Given the description of an element on the screen output the (x, y) to click on. 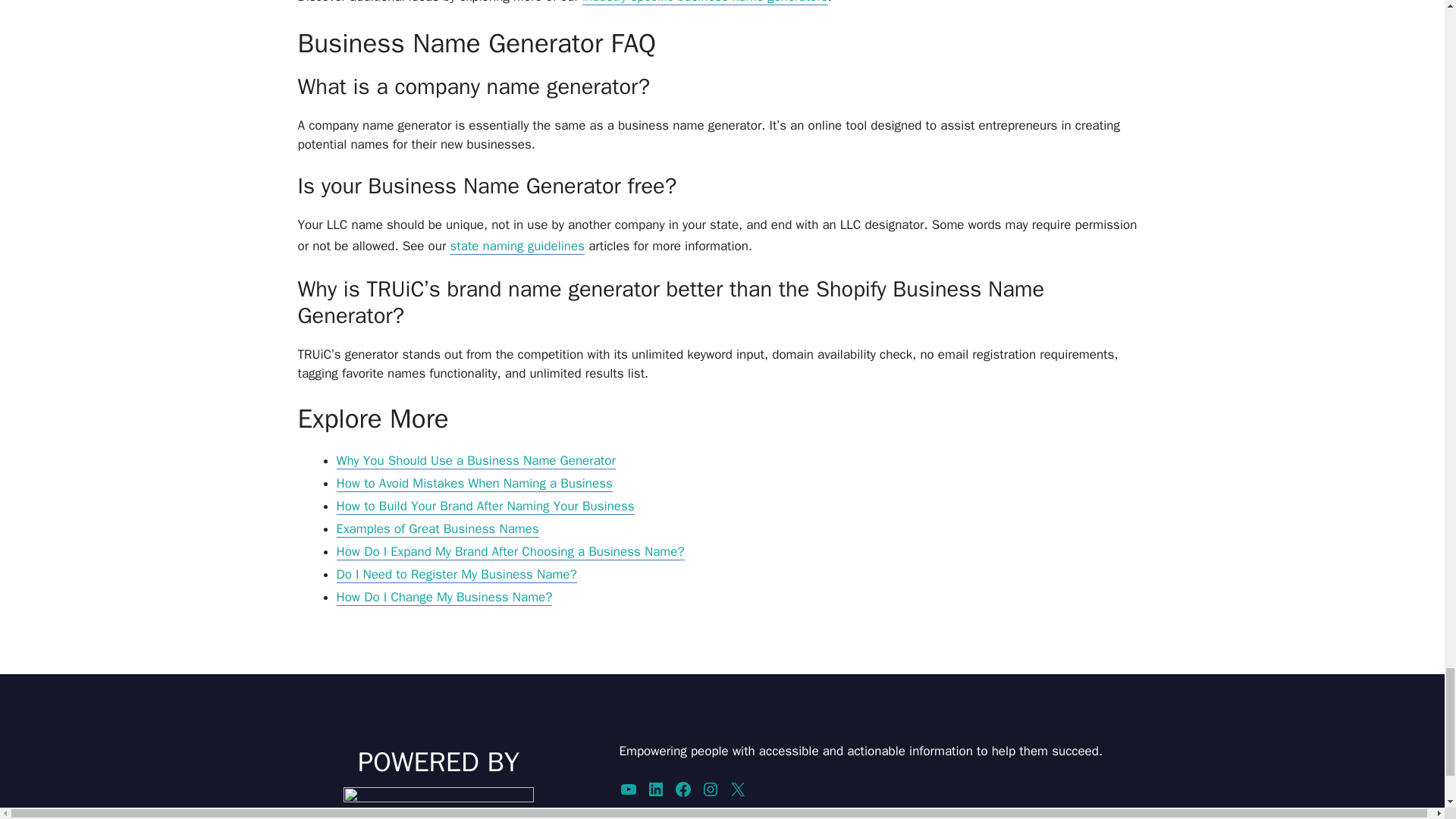
How to Build Your Brand After Naming Your Business (485, 506)
Why You Should Use a Business Name Generator (475, 460)
industry-specific business name generators (705, 2)
state naming guidelines (517, 246)
How to Avoid Mistakes When Naming a Business (474, 483)
